Given the description of an element on the screen output the (x, y) to click on. 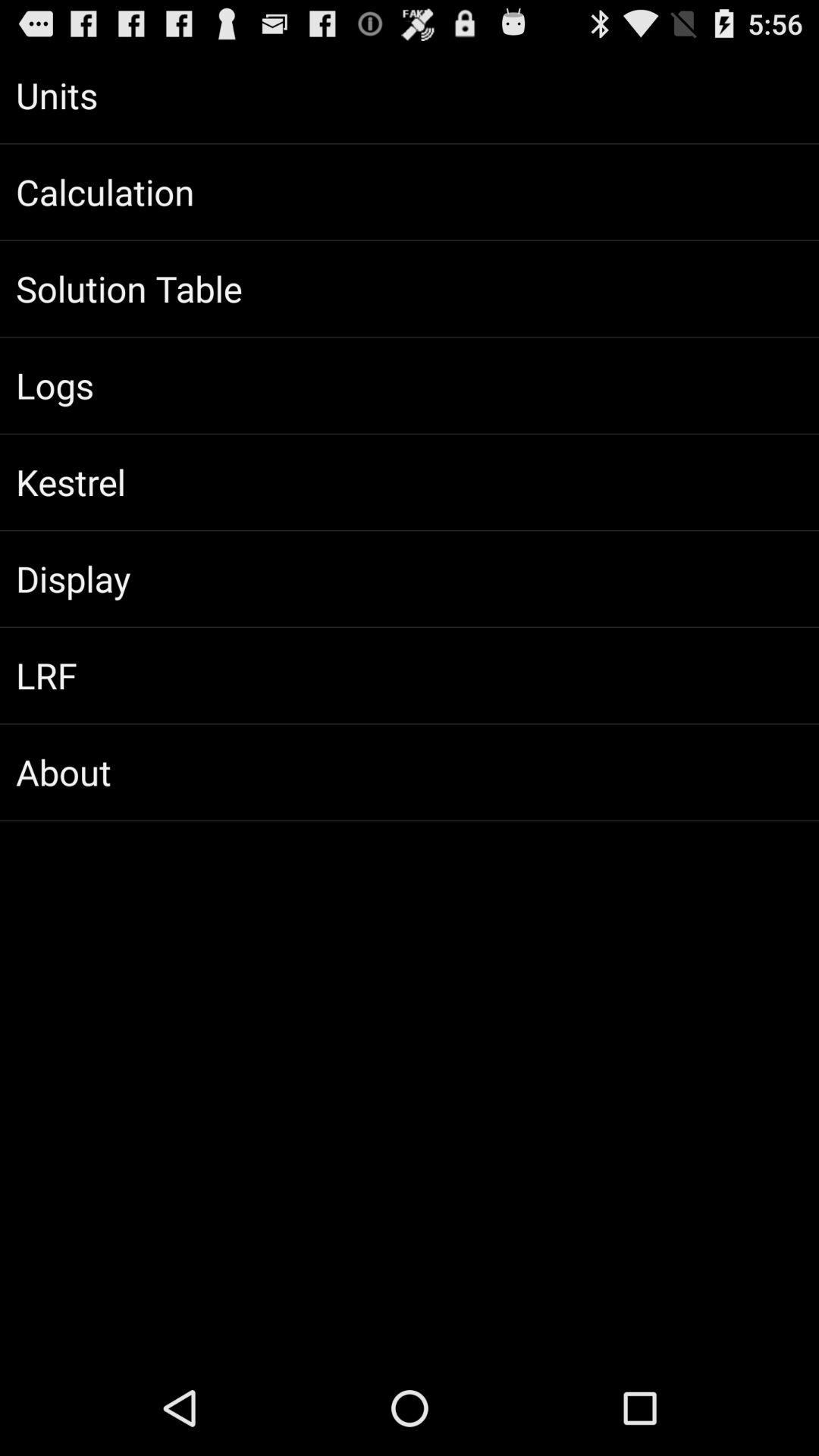
open kestrel app (409, 482)
